Given the description of an element on the screen output the (x, y) to click on. 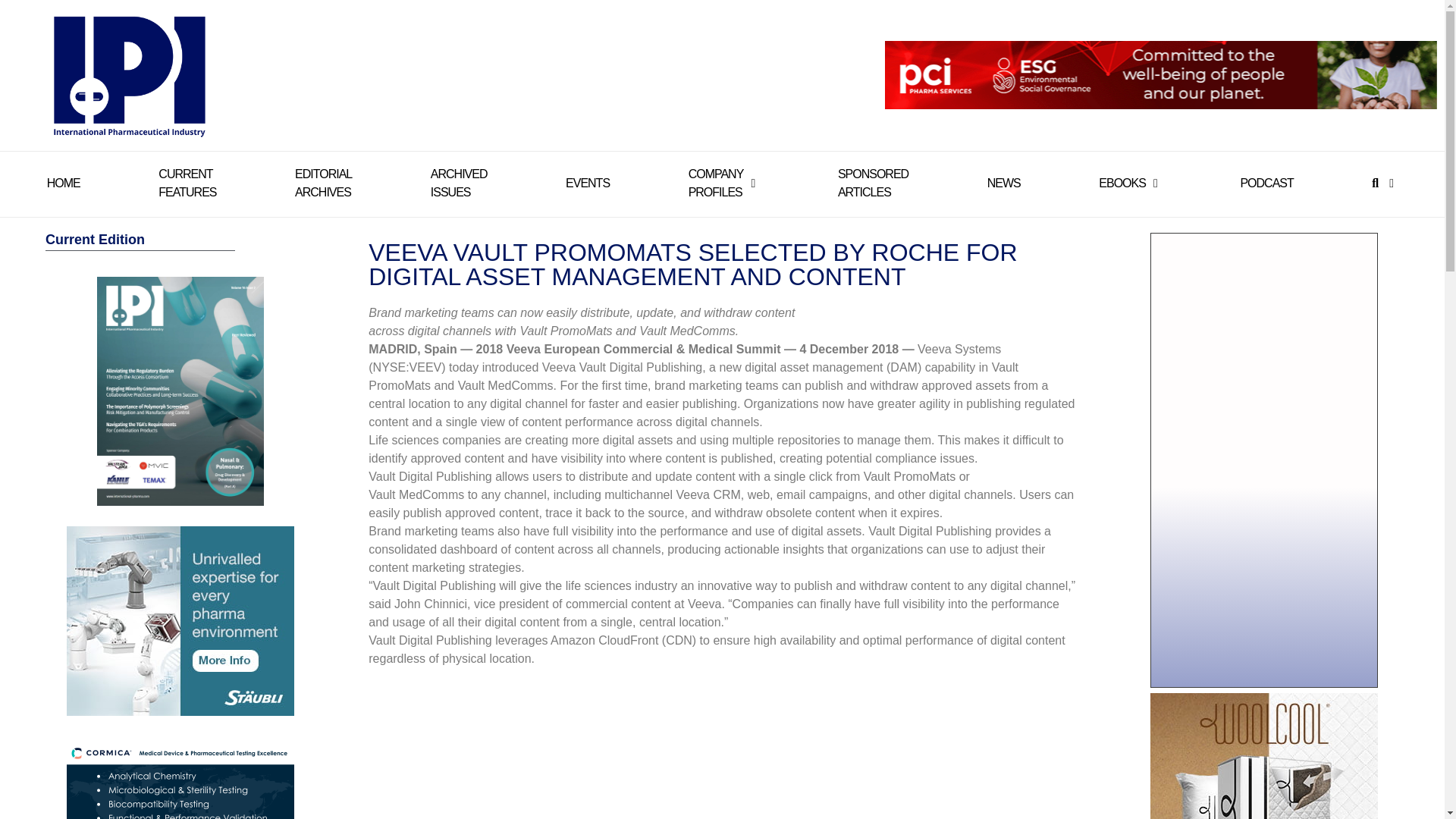
EVENTS (588, 183)
NEWS (1003, 183)
PODCAST (873, 183)
HOME (186, 183)
